Given the description of an element on the screen output the (x, y) to click on. 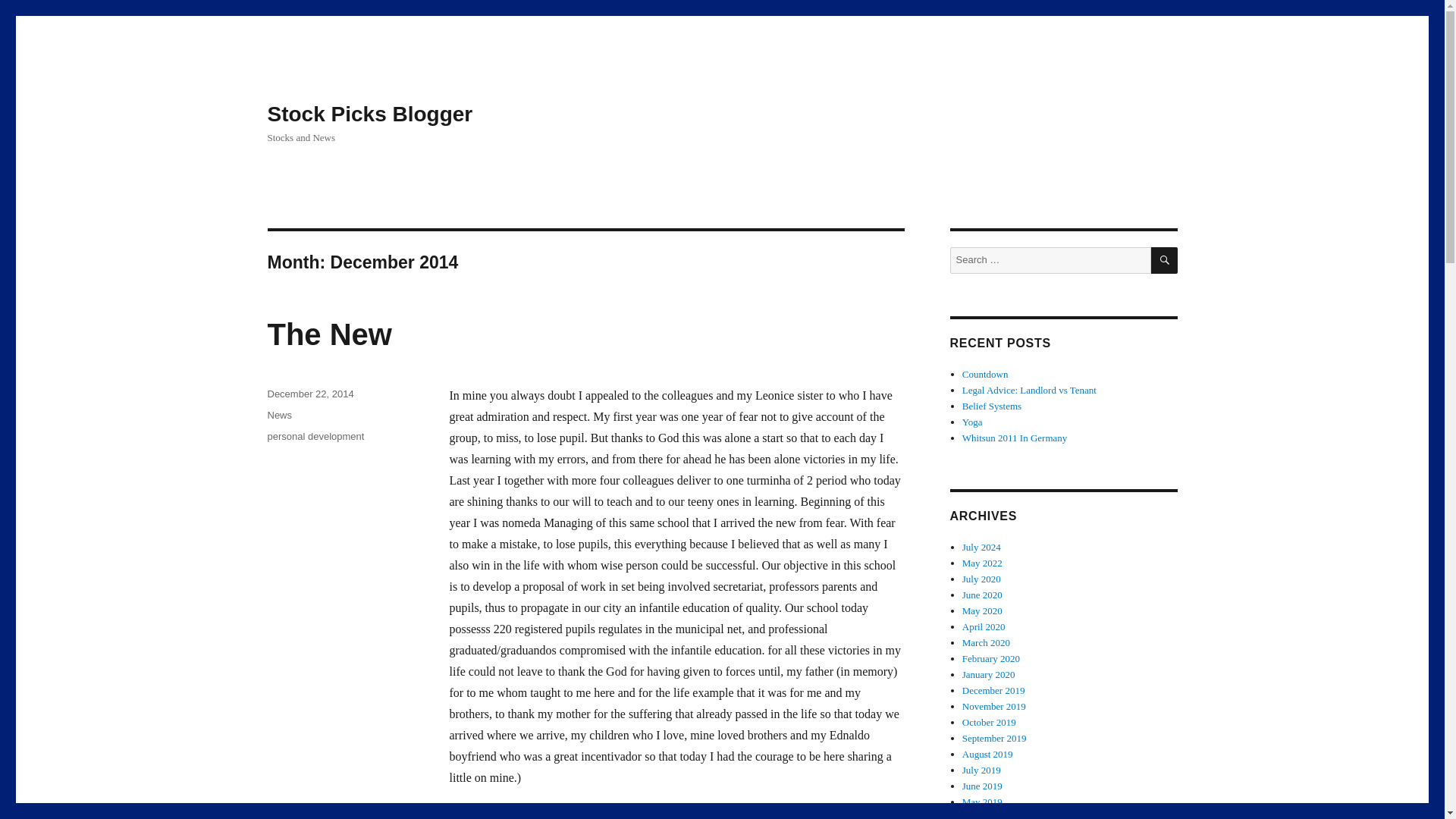
Legal Advice: Landlord vs Tenant (1029, 389)
Stock Picks Blogger (368, 114)
July 2019 (981, 769)
News (279, 414)
June 2020 (982, 594)
Countdown (985, 374)
May 2019 (982, 801)
Whitsun 2011 In Germany (1014, 437)
April 2020 (984, 626)
March 2020 (986, 642)
